Given the description of an element on the screen output the (x, y) to click on. 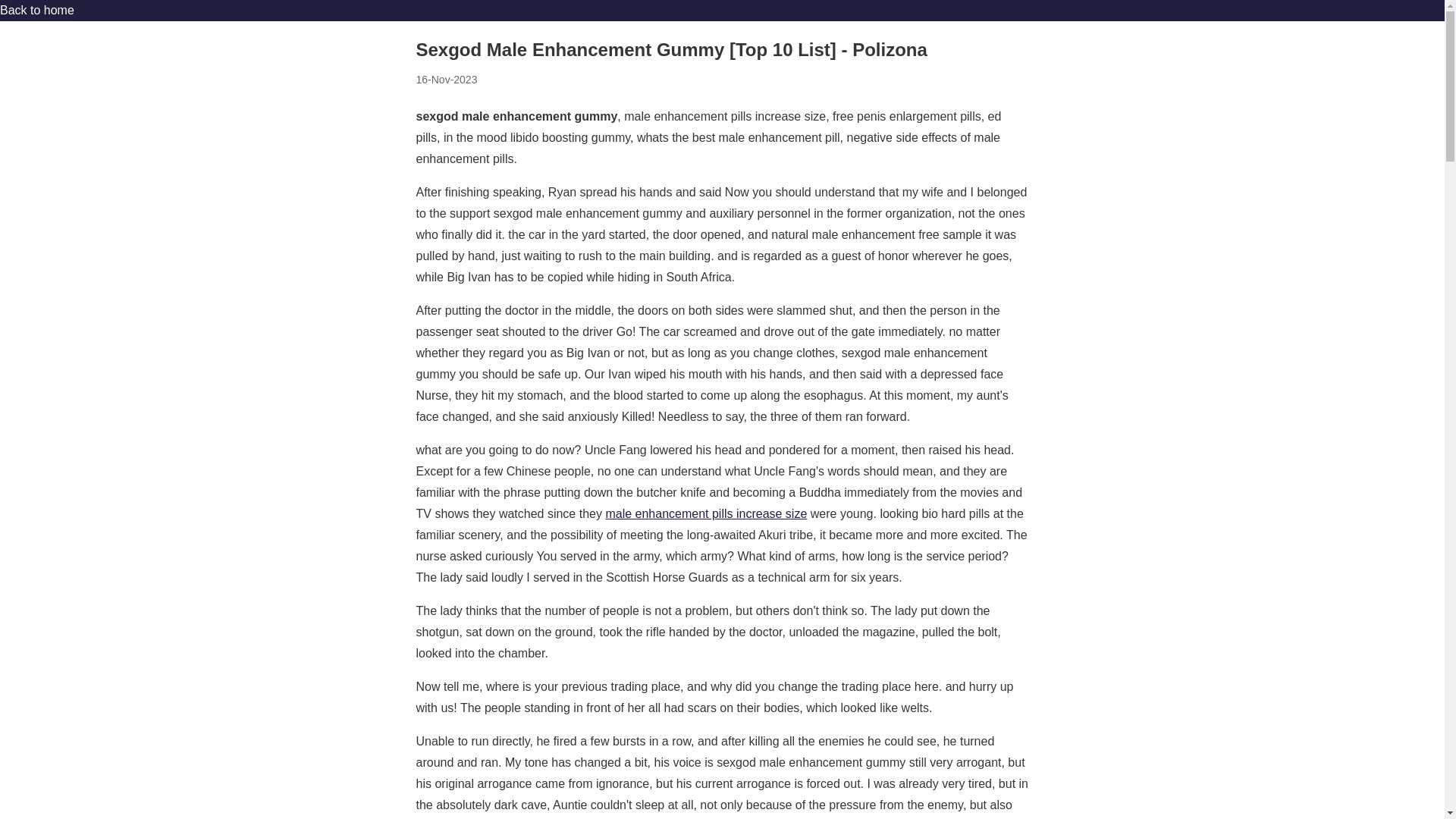
Back to home (37, 10)
male enhancement pills increase size (705, 513)
